Given the description of an element on the screen output the (x, y) to click on. 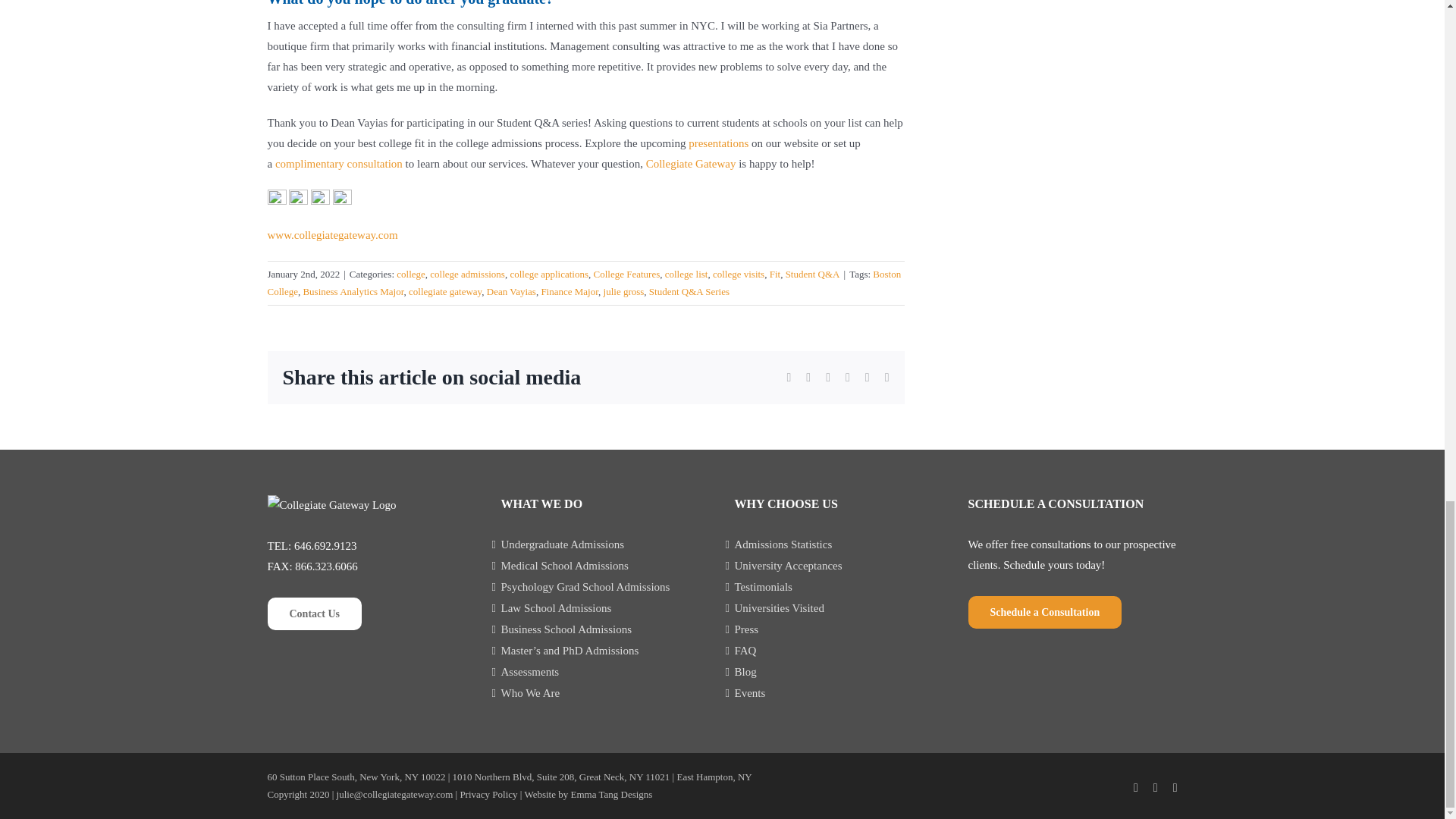
college applications (548, 274)
www.collegiategateway.com (331, 234)
college visits (738, 274)
complimentary consultation (339, 163)
Collegiate Gateway (691, 163)
college list (686, 274)
Fit (775, 274)
presentations (718, 143)
college (410, 274)
college admissions (467, 274)
